Given the description of an element on the screen output the (x, y) to click on. 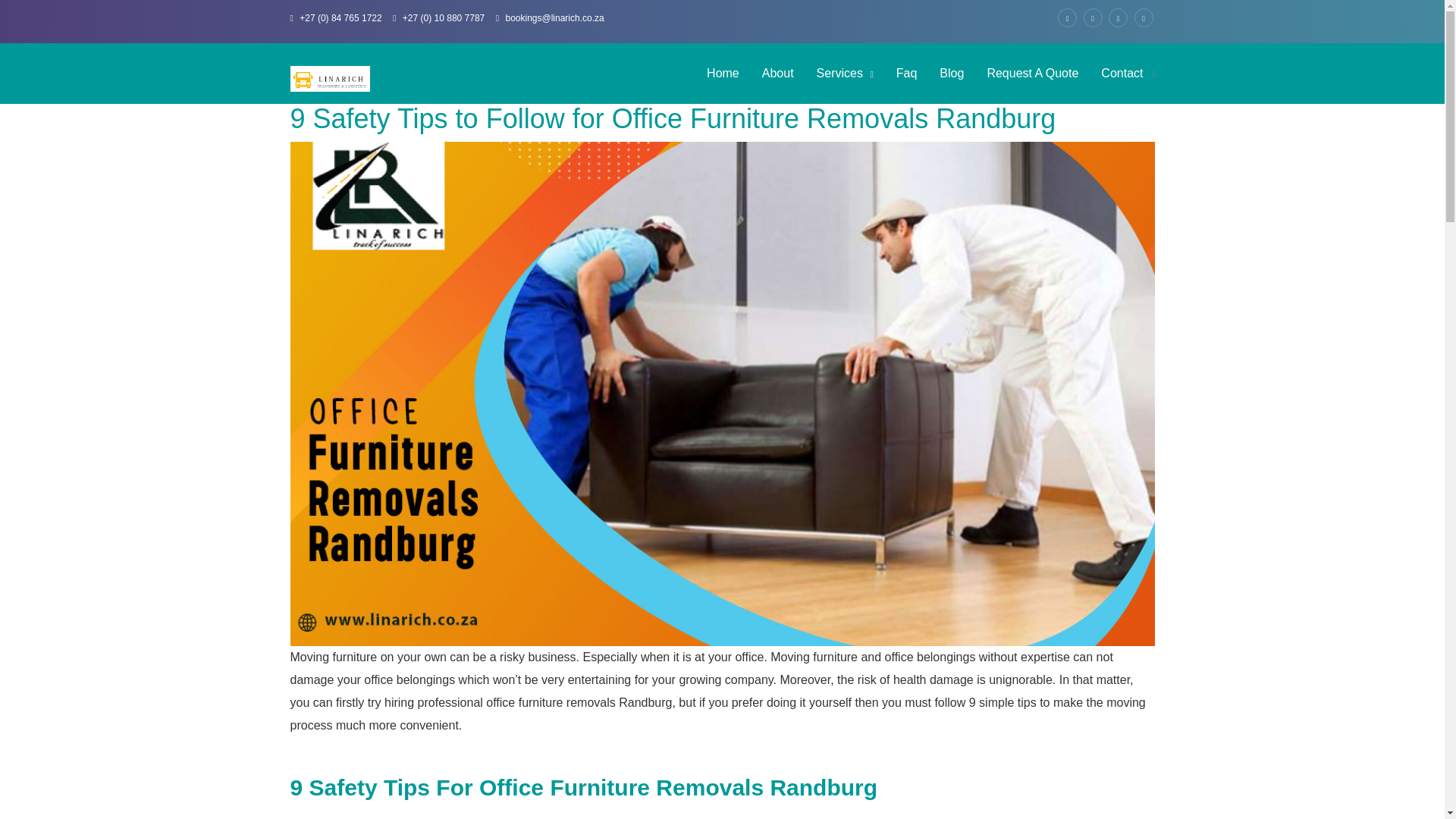
About (778, 73)
Faq (906, 73)
Contact (1121, 73)
Home (723, 73)
Blog (951, 73)
Toggle navigation (1154, 73)
Services (845, 73)
Faq (906, 73)
Blog (951, 73)
Request A Quote (1032, 73)
